Given the description of an element on the screen output the (x, y) to click on. 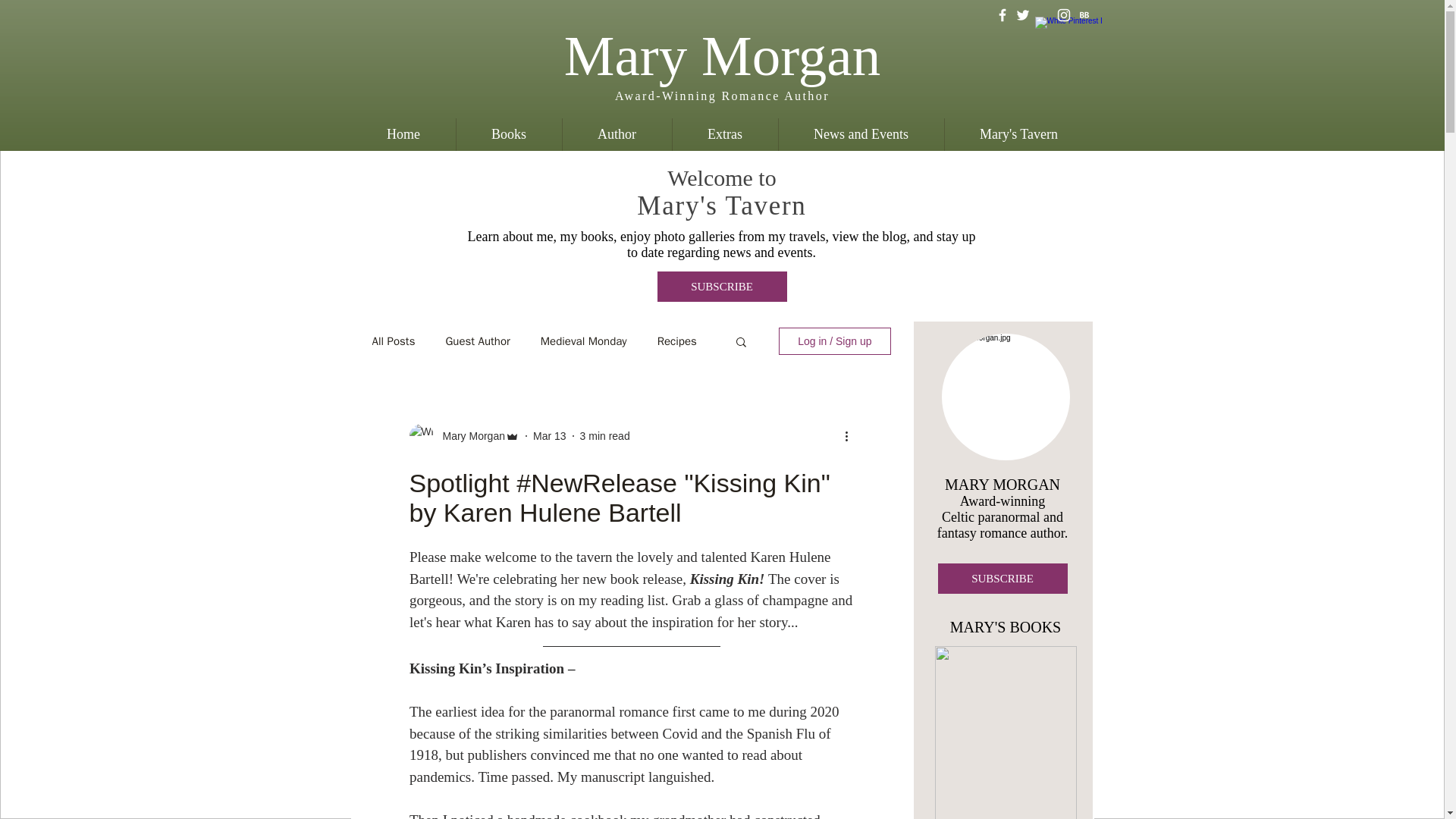
News and Events (860, 133)
Author (615, 133)
Guest Author (477, 340)
Recipes (677, 340)
Home (403, 133)
All Posts (392, 340)
Mary Morgan (722, 55)
SUBSCRIBE (721, 286)
Extras (724, 133)
3 min read (604, 435)
Medieval Monday (583, 340)
Mary Morgan (469, 435)
Books (507, 133)
Mary's Tavern (1018, 133)
Mar 13 (549, 435)
